Given the description of an element on the screen output the (x, y) to click on. 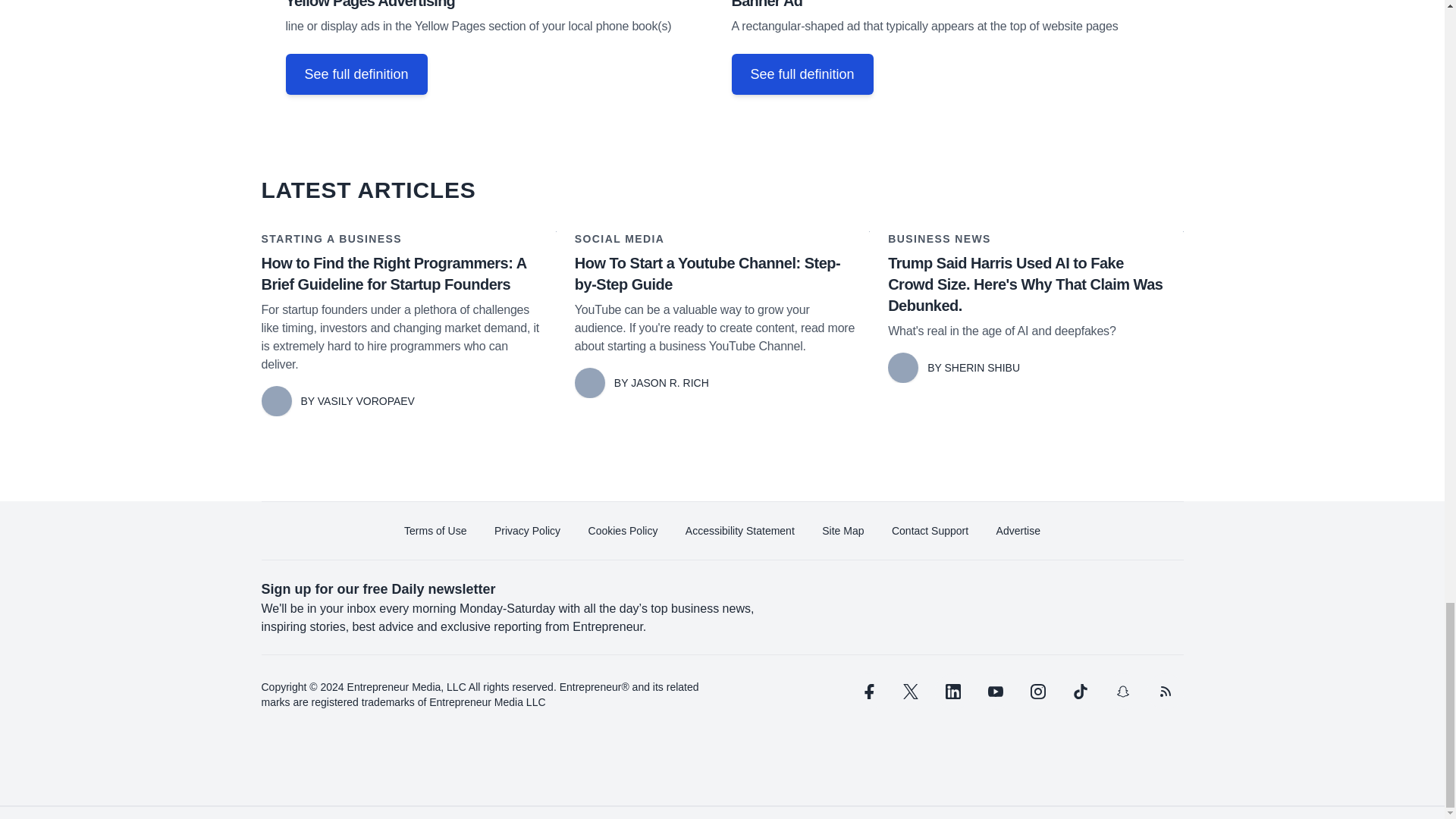
snapchat (1121, 691)
twitter (909, 691)
rss (1164, 691)
youtube (994, 691)
instagram (1037, 691)
facebook (866, 691)
linkedin (952, 691)
tiktok (1079, 691)
